Given the description of an element on the screen output the (x, y) to click on. 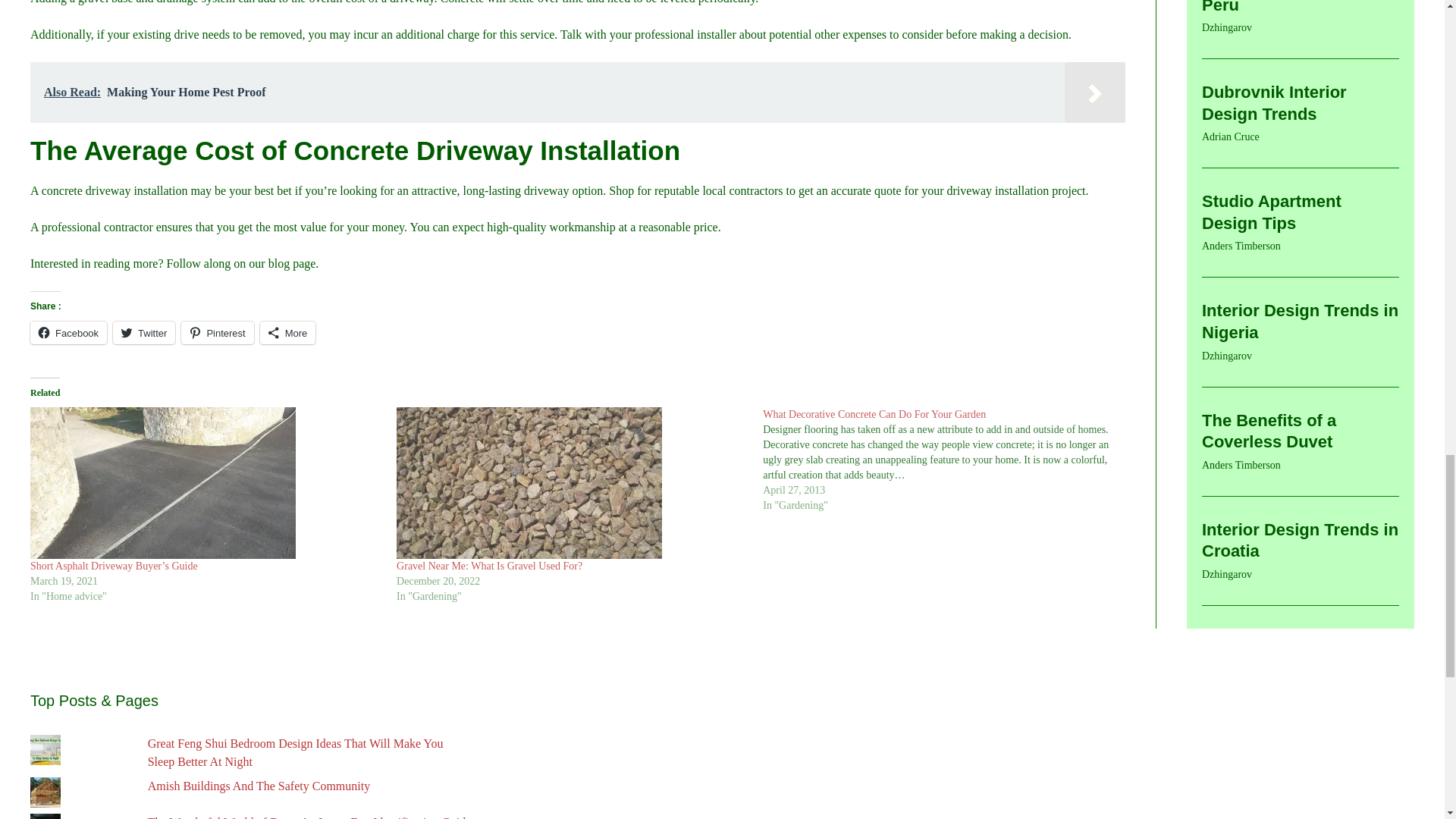
Click to share on Twitter (143, 332)
What Decorative Concrete Can Do For Your Garden (945, 460)
Gravel Near Me: What Is Gravel Used For? (489, 565)
Also Read:  Making Your Home Pest Proof (577, 92)
Click to share on Facebook (68, 332)
Pinterest (216, 332)
Gravel Near Me: What Is Gravel Used For? (572, 482)
Gravel Near Me: What Is Gravel Used For? (489, 565)
Twitter (143, 332)
More (287, 332)
